Given the description of an element on the screen output the (x, y) to click on. 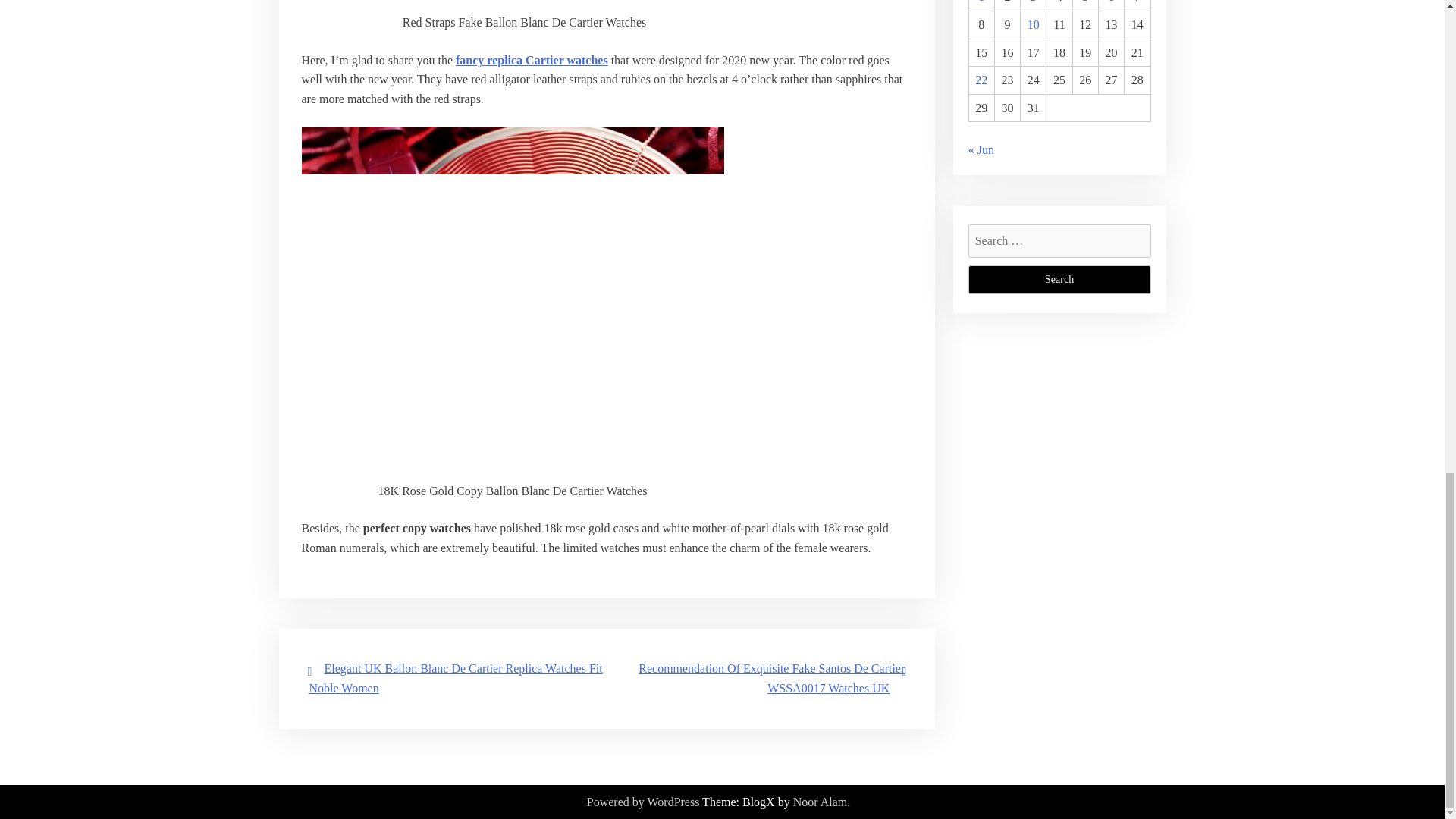
Search (1059, 279)
22 (981, 79)
10 (1033, 24)
fancy replica Cartier watches (531, 60)
Search (1059, 279)
